Given the description of an element on the screen output the (x, y) to click on. 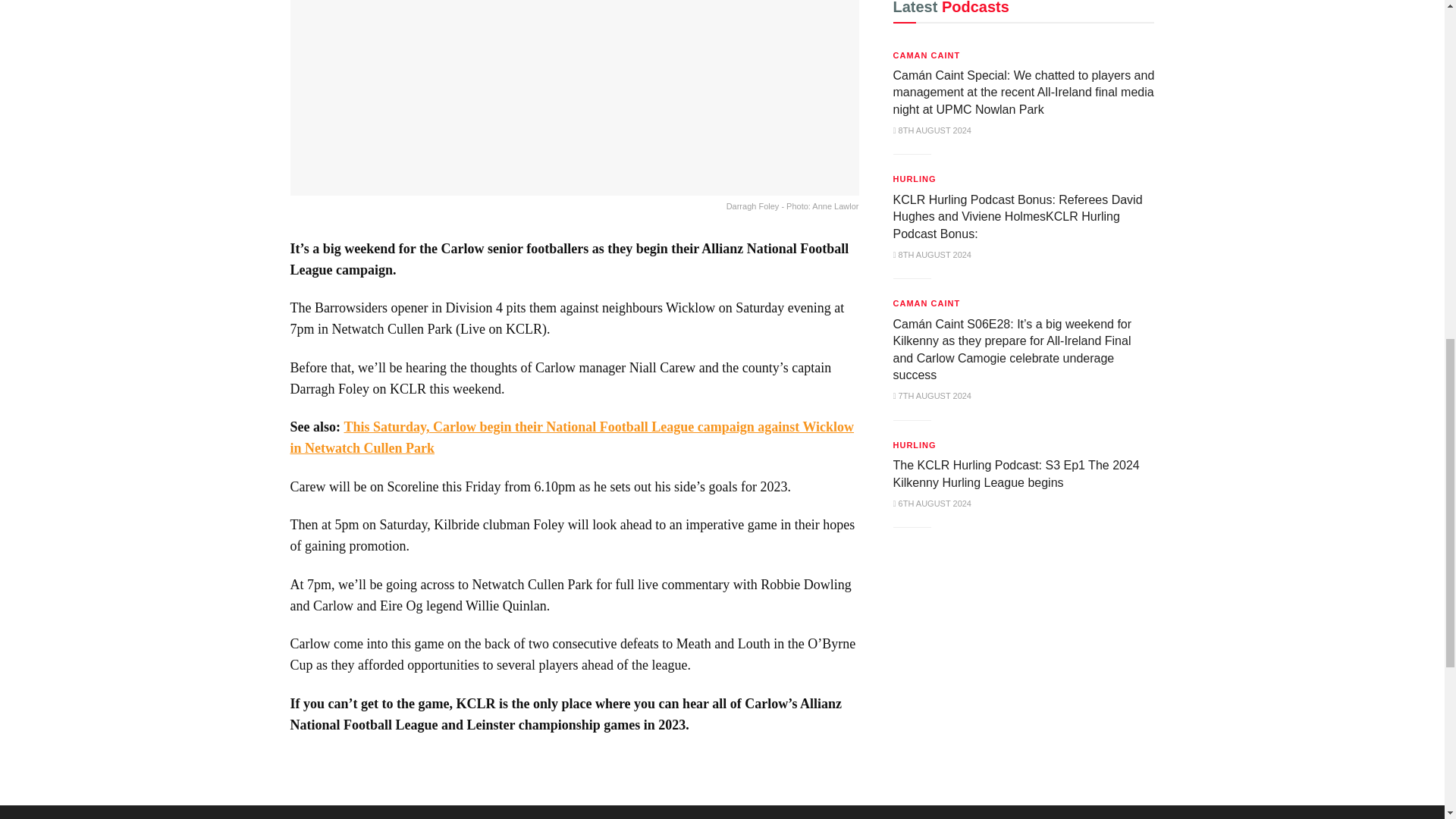
HURLING (914, 178)
8TH AUGUST 2024 (932, 254)
CAMAN CAINT (926, 54)
8TH AUGUST 2024 (932, 130)
Darragh Foley - Photo: Anne Lawlor (574, 107)
